Given the description of an element on the screen output the (x, y) to click on. 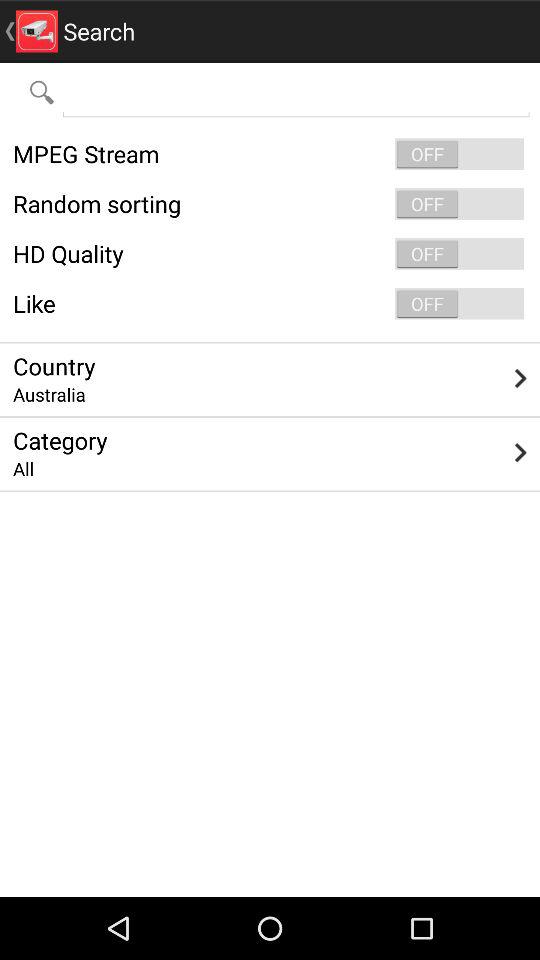
come back (295, 91)
